Given the description of an element on the screen output the (x, y) to click on. 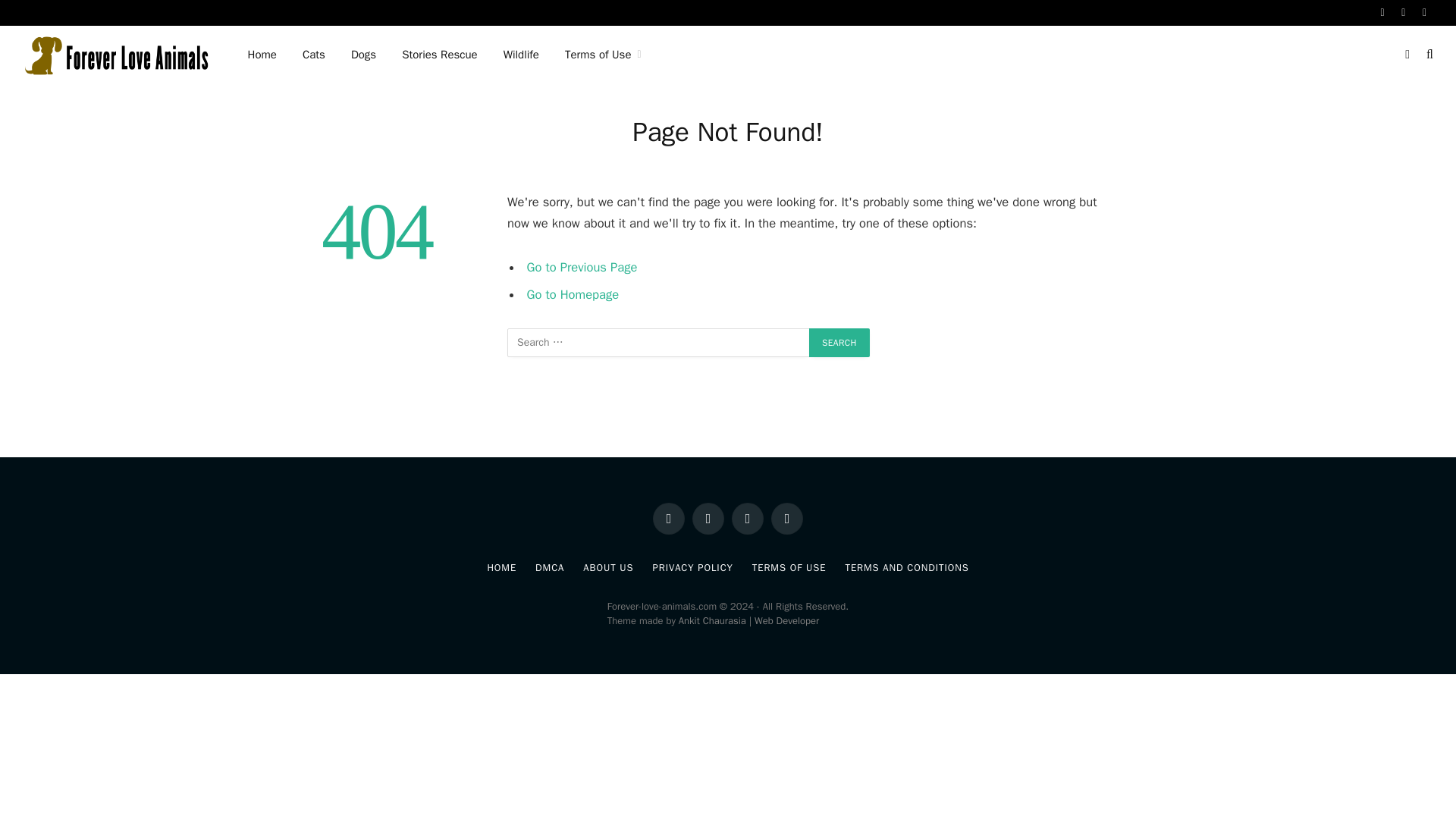
Home (261, 54)
Go to Previous Page (582, 267)
Go to Homepage (573, 294)
Search (839, 342)
Search (839, 342)
LoveAnimals (115, 54)
Stories Rescue (438, 54)
Wildlife (520, 54)
Search (839, 342)
Terms of Use (602, 54)
